Given the description of an element on the screen output the (x, y) to click on. 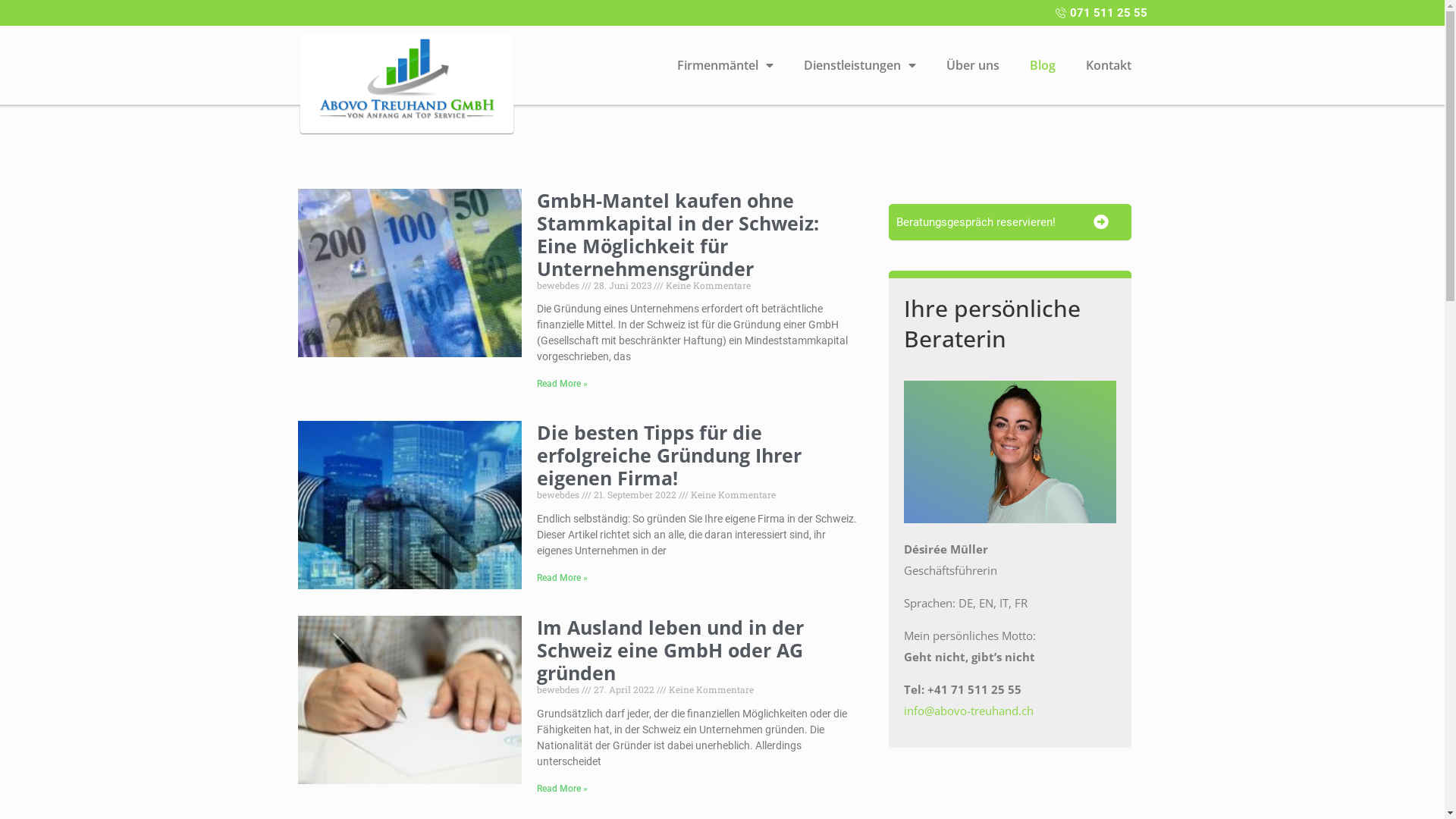
Kontakt Element type: text (1108, 64)
Blog Element type: text (1042, 64)
Dienstleistungen Element type: text (859, 64)
071 511 25 55 Element type: text (721, 12)
info@abovo-treuhand.ch Element type: text (968, 710)
